Given the description of an element on the screen output the (x, y) to click on. 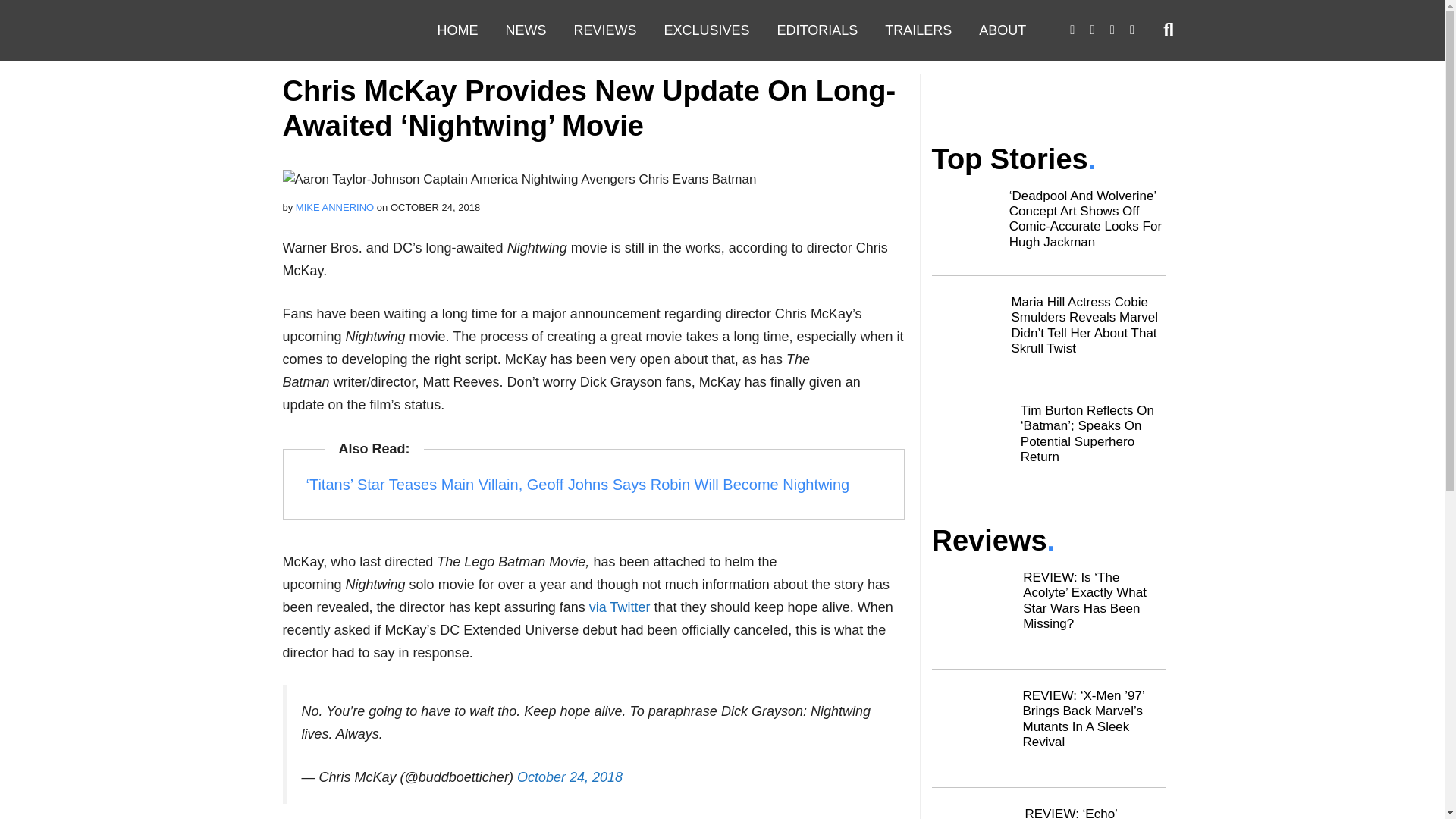
EXCLUSIVES (706, 30)
HOME (457, 30)
NEWS (525, 30)
ABOUT (1002, 30)
REVIEWS (604, 30)
EDITORIALS (817, 30)
2018-10-24 (435, 206)
TRAILERS (917, 30)
